Given the description of an element on the screen output the (x, y) to click on. 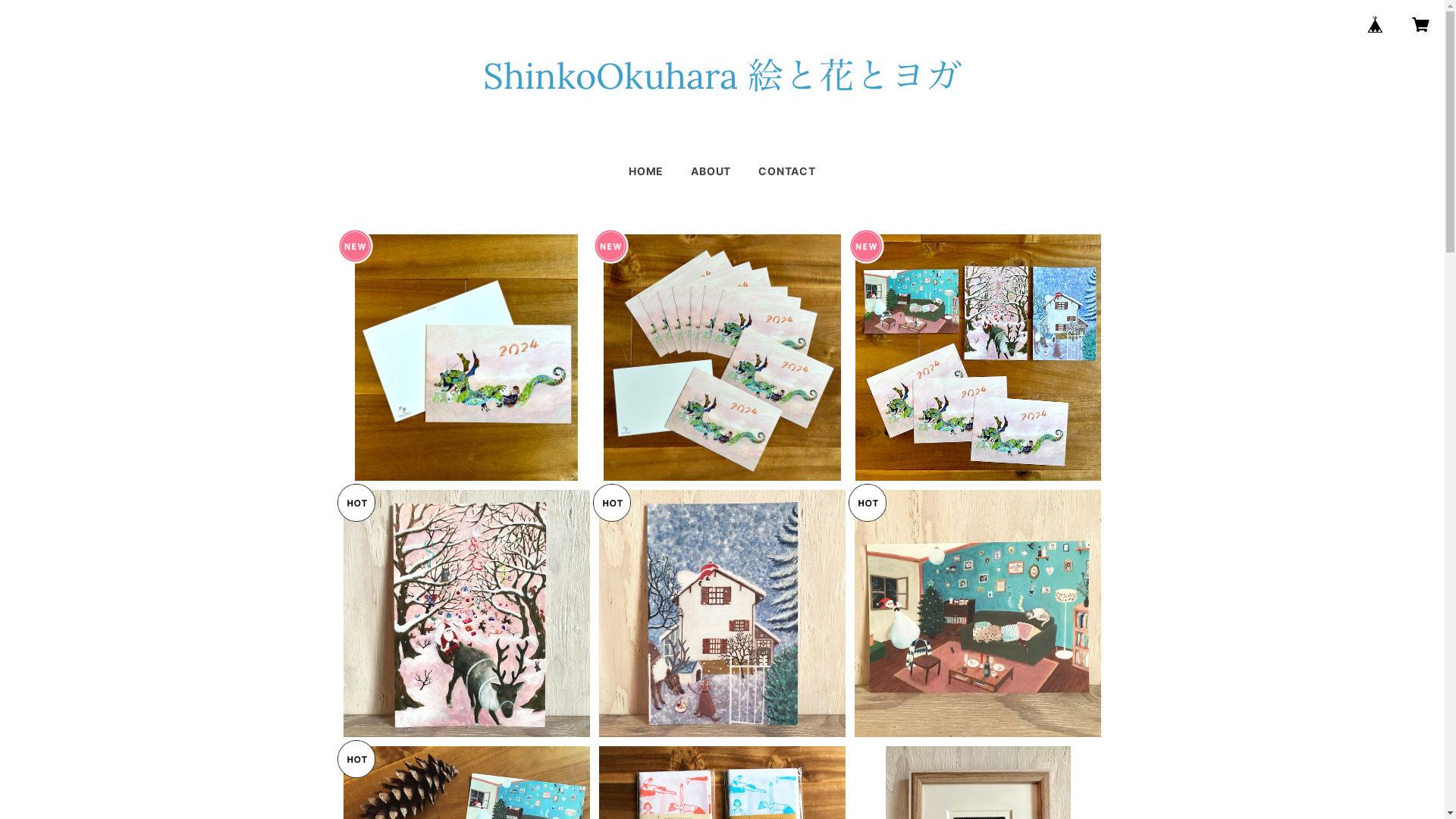
HOME Element type: text (645, 170)
ABOUT Element type: text (710, 170)
CONTACT Element type: text (786, 170)
